Given the description of an element on the screen output the (x, y) to click on. 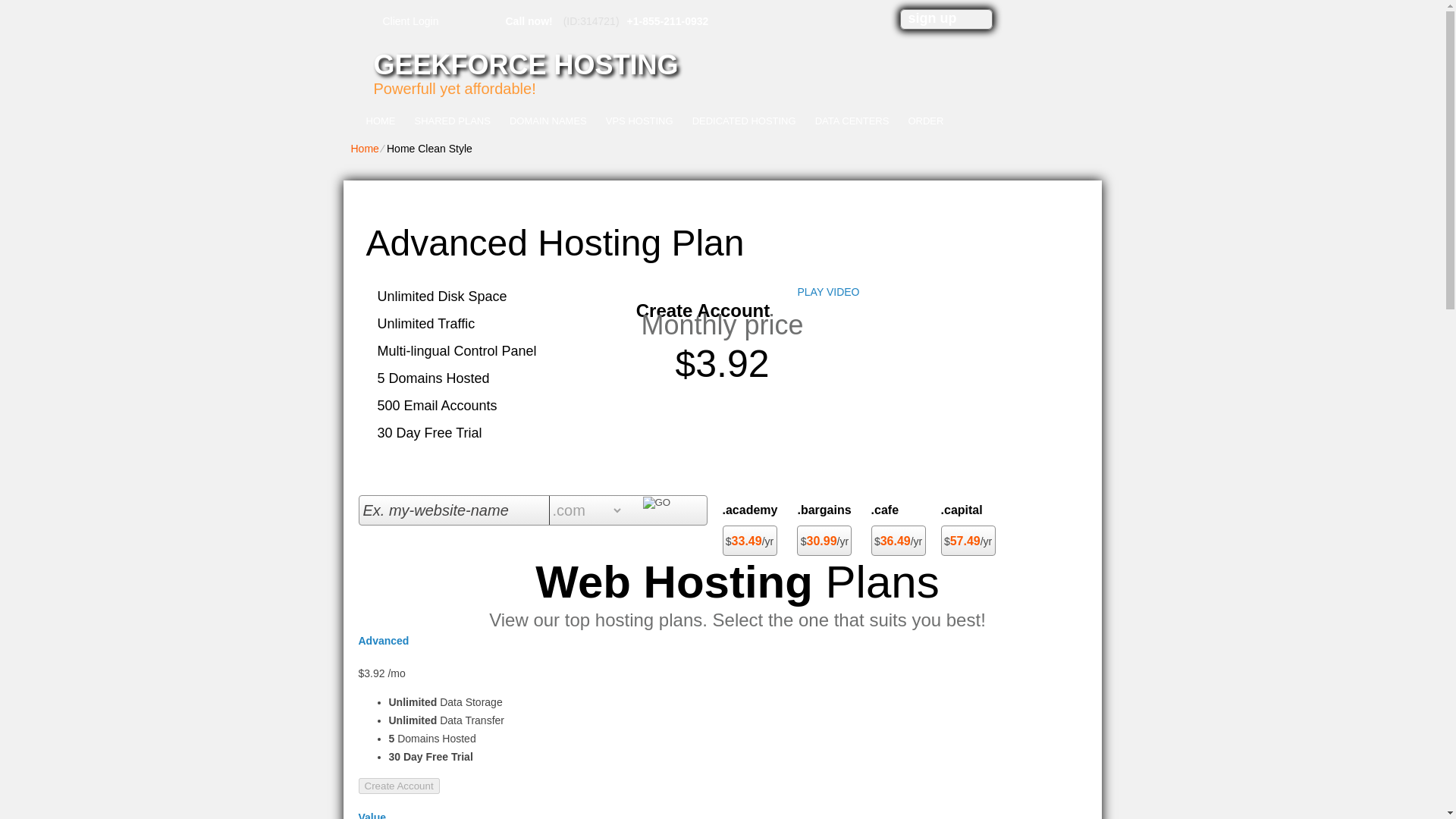
ORDER (924, 120)
Home (364, 148)
Create Account (398, 785)
Create Account (702, 310)
HOME (380, 120)
DOMAIN NAMES (548, 120)
sign up (932, 17)
PLAY VIDEO (828, 291)
Ex. my-website-name (454, 510)
Value (371, 815)
